Given the description of an element on the screen output the (x, y) to click on. 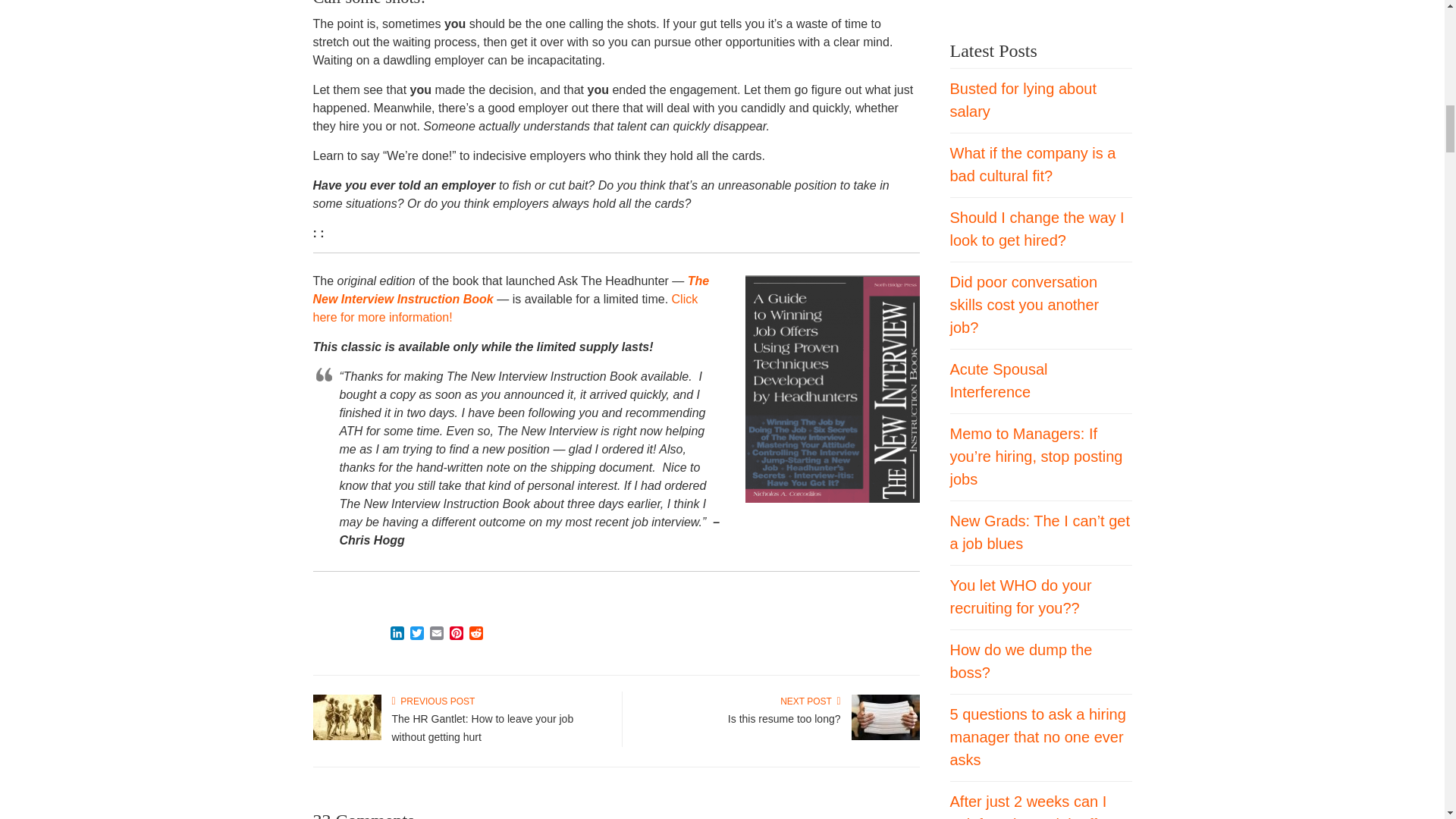
The HR Gantlet: How to leave your job without getting hurt (346, 737)
Email (435, 634)
LinkedIn (396, 634)
Pinterest (455, 634)
Twitter (416, 634)
Go to previous post (432, 701)
Reddit (474, 634)
